Given the description of an element on the screen output the (x, y) to click on. 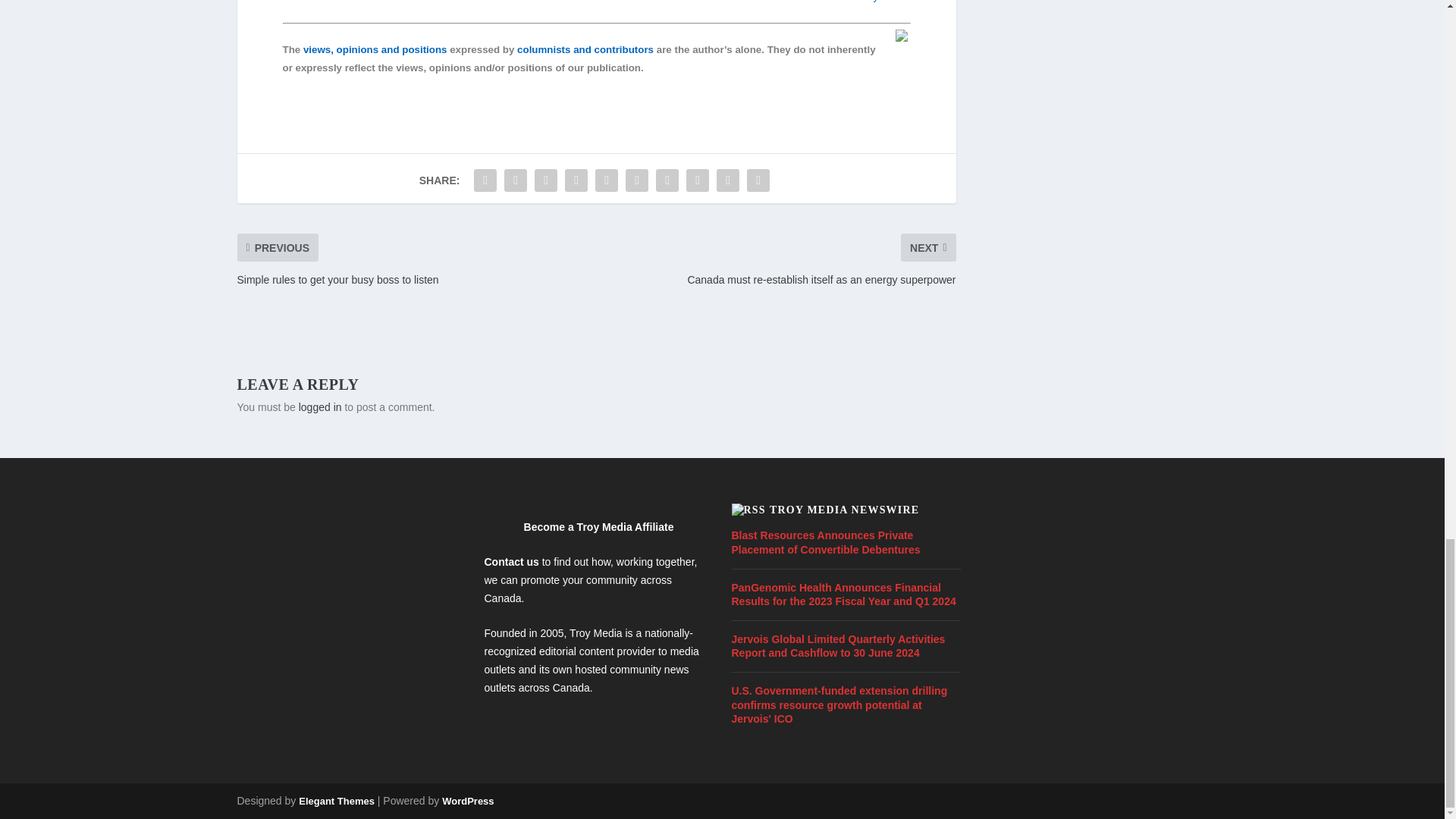
Share "God rested on the 7th day. Why not you?" via Buffer (667, 180)
Share "God rested on the 7th day. Why not you?" via Print (757, 180)
Share "God rested on the 7th day. Why not you?" via LinkedIn (636, 180)
Share "God rested on the 7th day. Why not you?" via Email (727, 180)
Share "God rested on the 7th day. Why not you?" via Twitter (515, 180)
Share "God rested on the 7th day. Why not you?" via Tumblr (575, 180)
Share "God rested on the 7th day. Why not you?" via Facebook (485, 180)
